Given the description of an element on the screen output the (x, y) to click on. 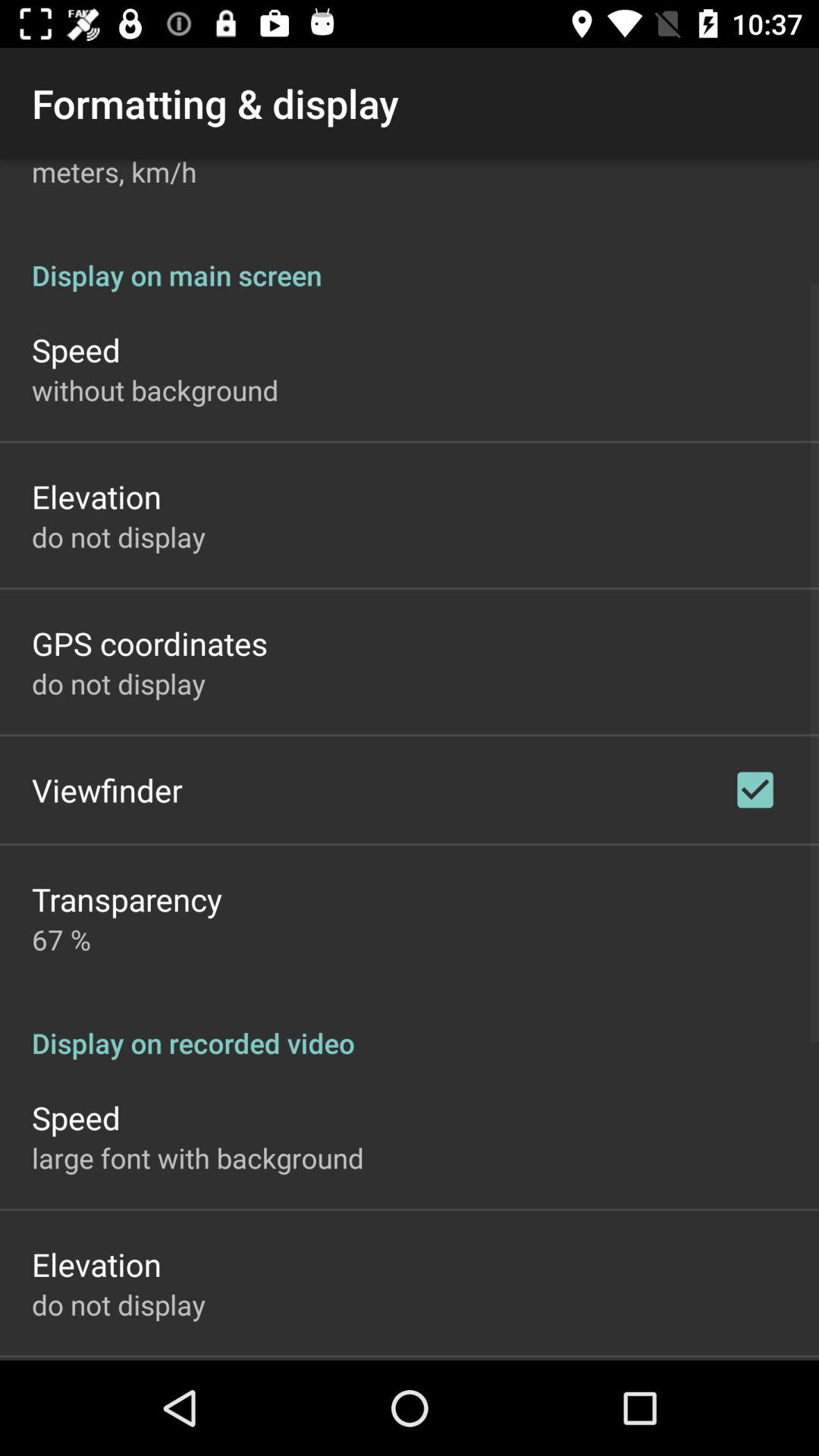
tap icon below viewfinder item (126, 898)
